Given the description of an element on the screen output the (x, y) to click on. 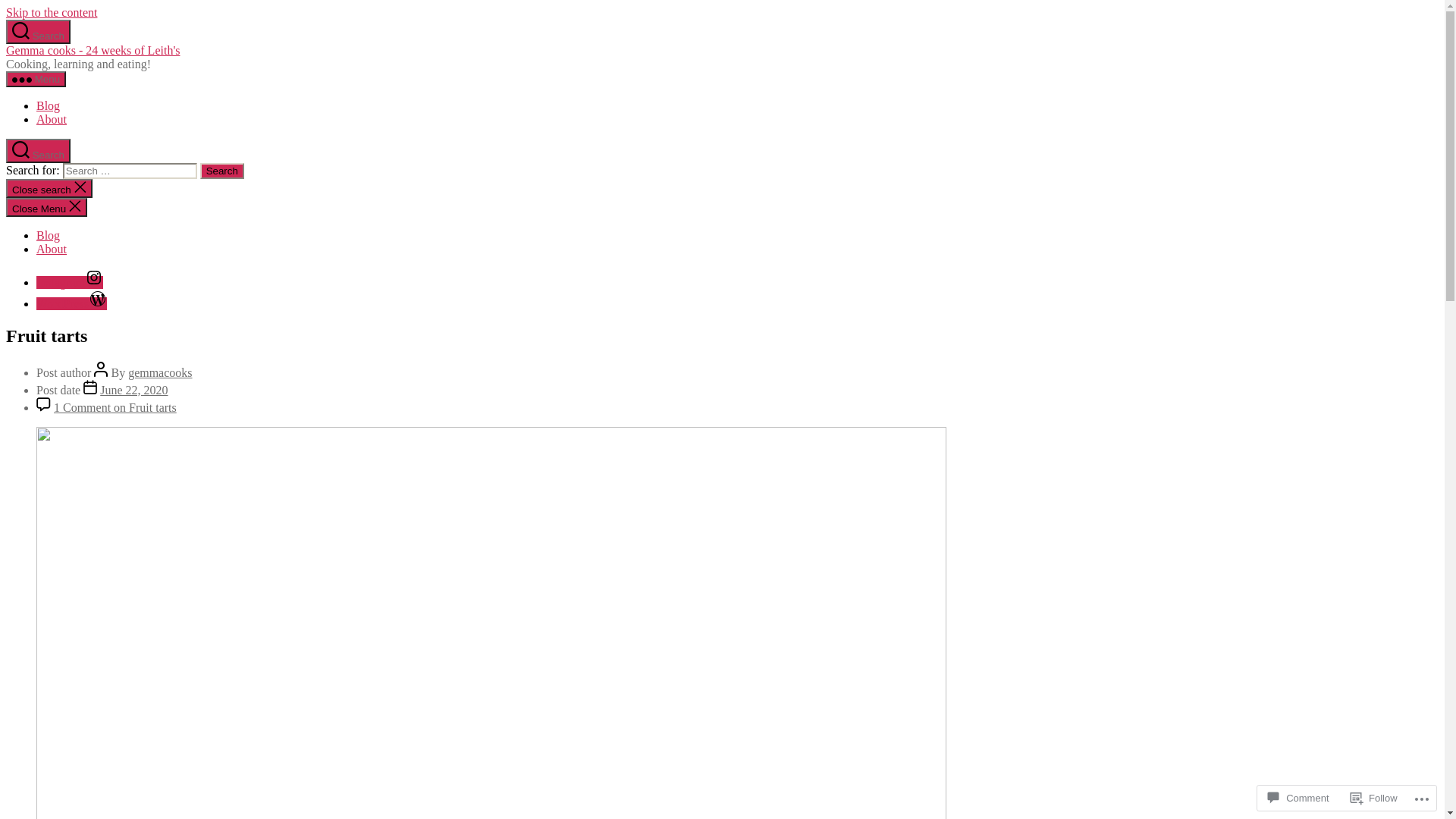
Search Element type: text (38, 31)
June 22, 2020 Element type: text (133, 389)
About Element type: text (51, 248)
Menu Element type: text (35, 79)
Gemma cooks - 24 weeks of Leith's Element type: text (93, 49)
Follow Element type: text (1373, 797)
Close Menu Element type: text (46, 206)
Close search Element type: text (49, 187)
Comment Element type: text (1297, 797)
Search Element type: text (38, 150)
About Element type: text (51, 118)
Skip to the content Element type: text (51, 12)
gemmacooks Element type: text (159, 372)
Blog Element type: text (47, 235)
Search Element type: text (222, 170)
Instagram Element type: text (69, 282)
1 Comment on Fruit tarts Element type: text (114, 407)
WordPress Element type: text (71, 303)
Blog Element type: text (47, 105)
